Given the description of an element on the screen output the (x, y) to click on. 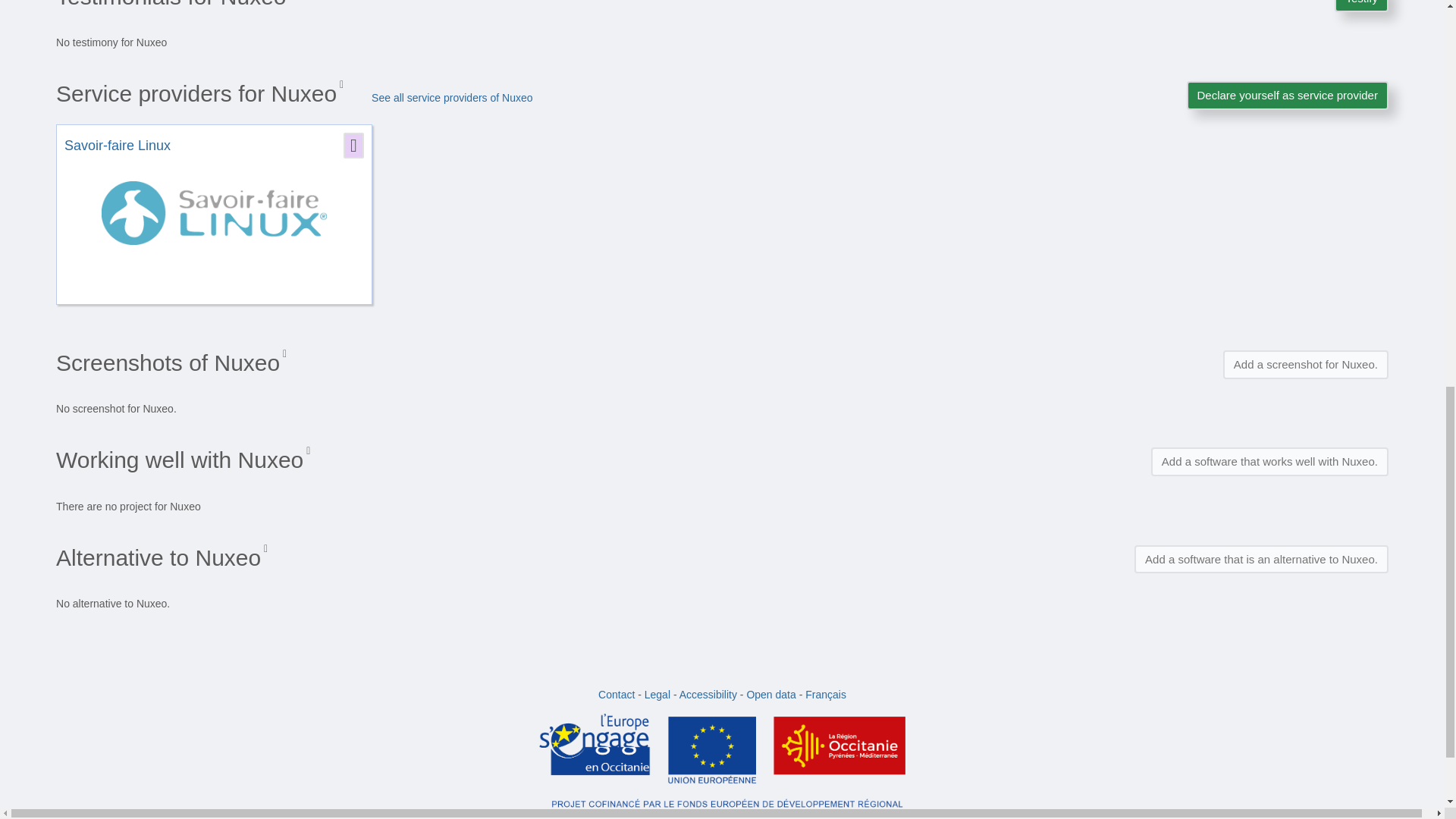
Declare yourself as service provider (1286, 94)
Testify (1362, 6)
Add a screenshot for Nuxeo. (1306, 364)
See all service providers of Nuxeo (451, 97)
Add a software that works well with Nuxeo. (1270, 461)
Use open data (769, 694)
Savoir-faire Linux (117, 145)
